Given the description of an element on the screen output the (x, y) to click on. 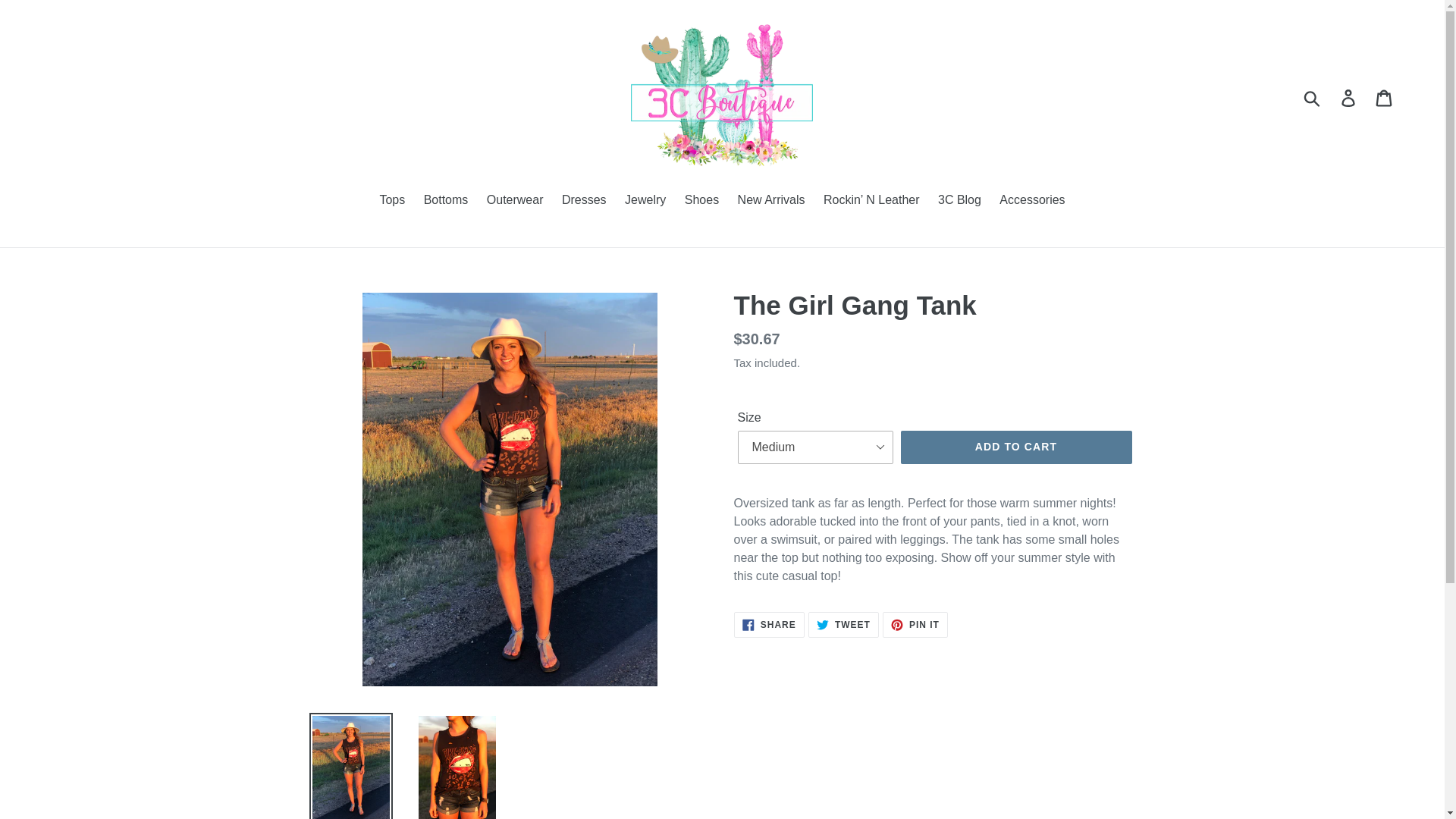
Shoes (701, 200)
Jewelry (644, 200)
Dresses (914, 624)
Bottoms (584, 200)
Accessories (446, 200)
Outerwear (1031, 200)
Submit (769, 624)
Log in (515, 200)
Cart (1313, 96)
ADD TO CART (1349, 96)
New Arrivals (1385, 96)
Tops (1016, 447)
